Given the description of an element on the screen output the (x, y) to click on. 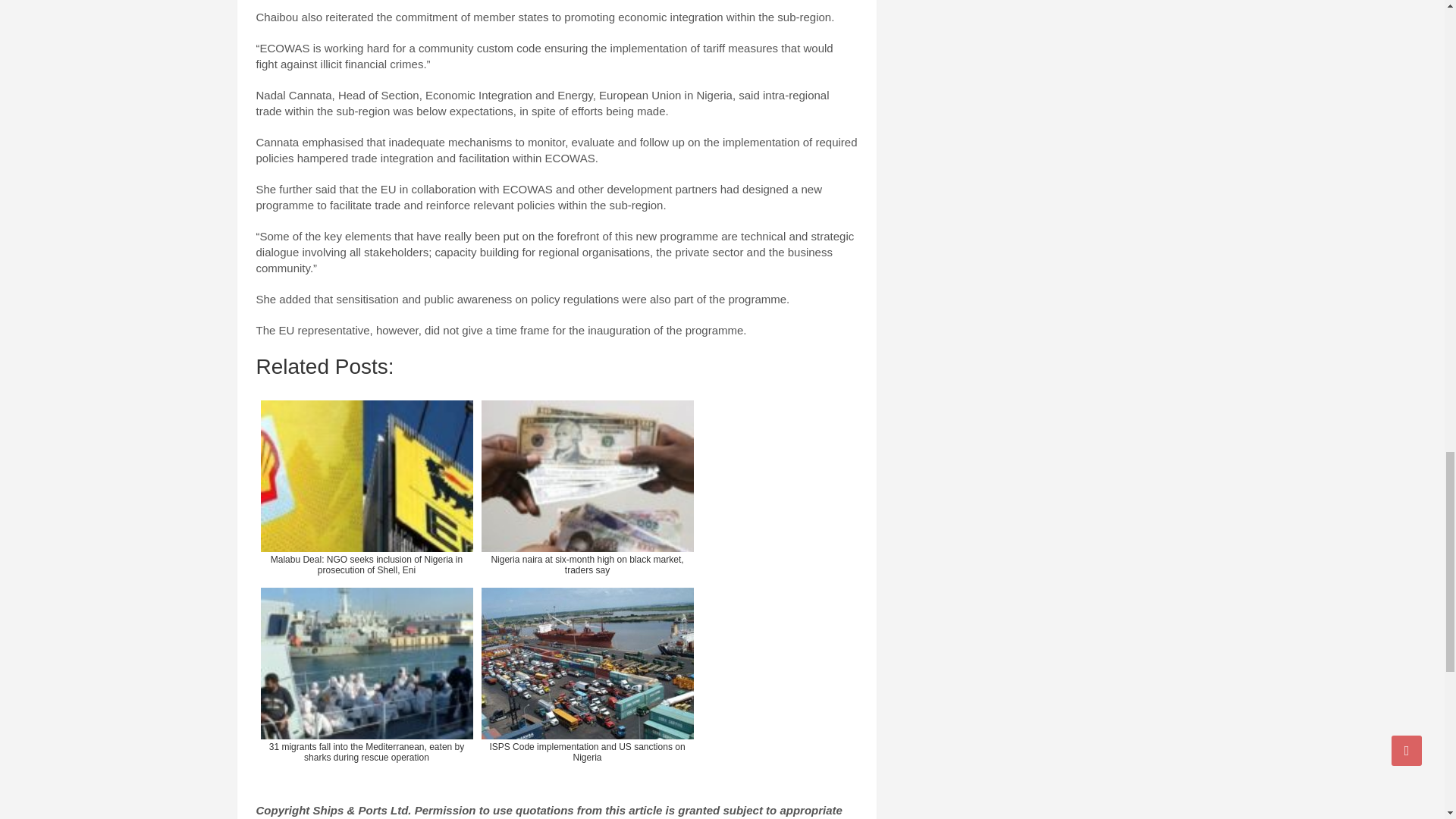
Nigeria naira at six-month high on black market, traders say (586, 487)
ISPS Code implementation and US sanctions on Nigeria (586, 674)
